Given the description of an element on the screen output the (x, y) to click on. 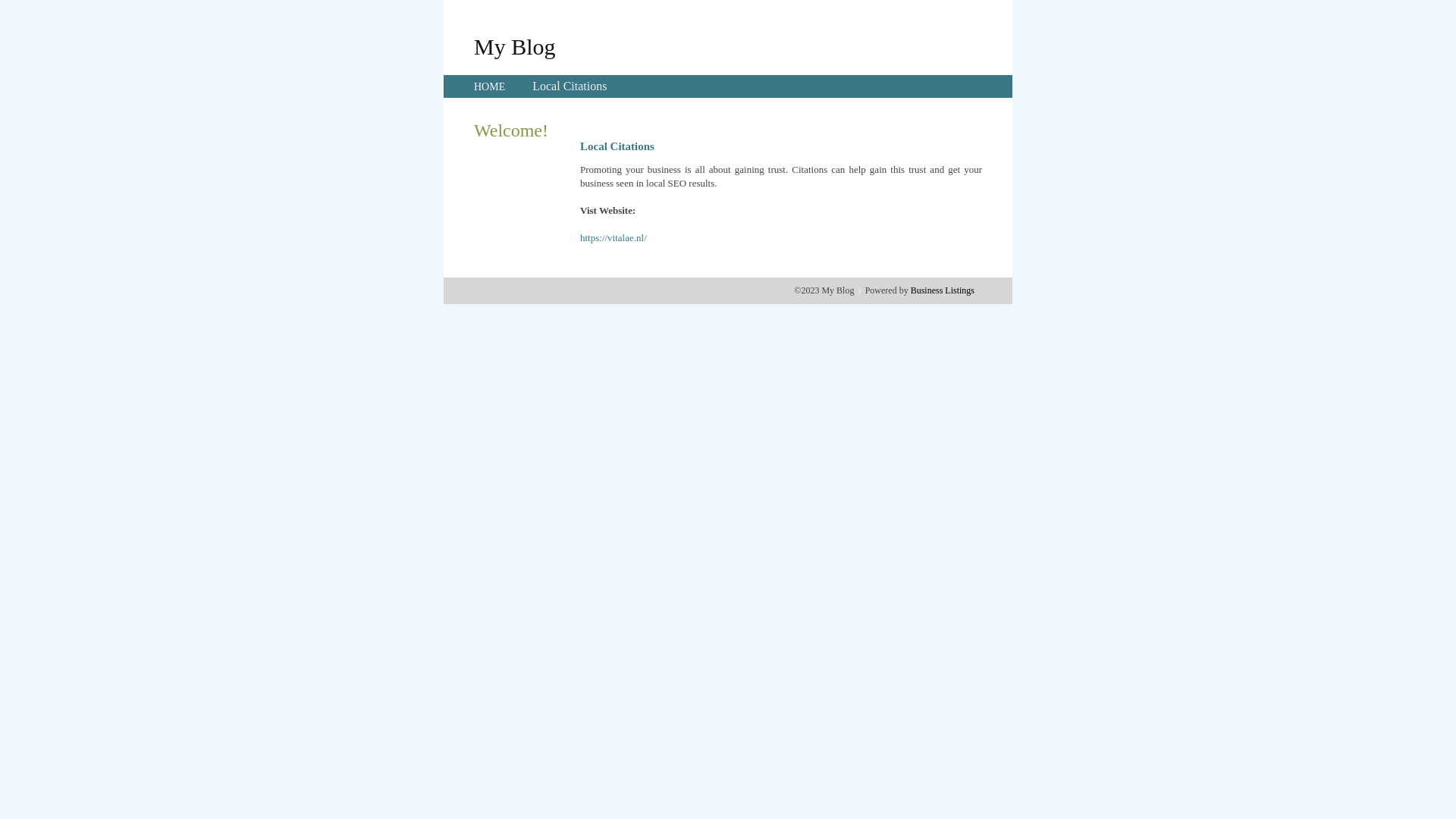
Local Citations Element type: text (569, 85)
Business Listings Element type: text (942, 290)
HOME Element type: text (489, 86)
https://vitalae.nl/ Element type: text (613, 237)
My Blog Element type: text (514, 46)
